Given the description of an element on the screen output the (x, y) to click on. 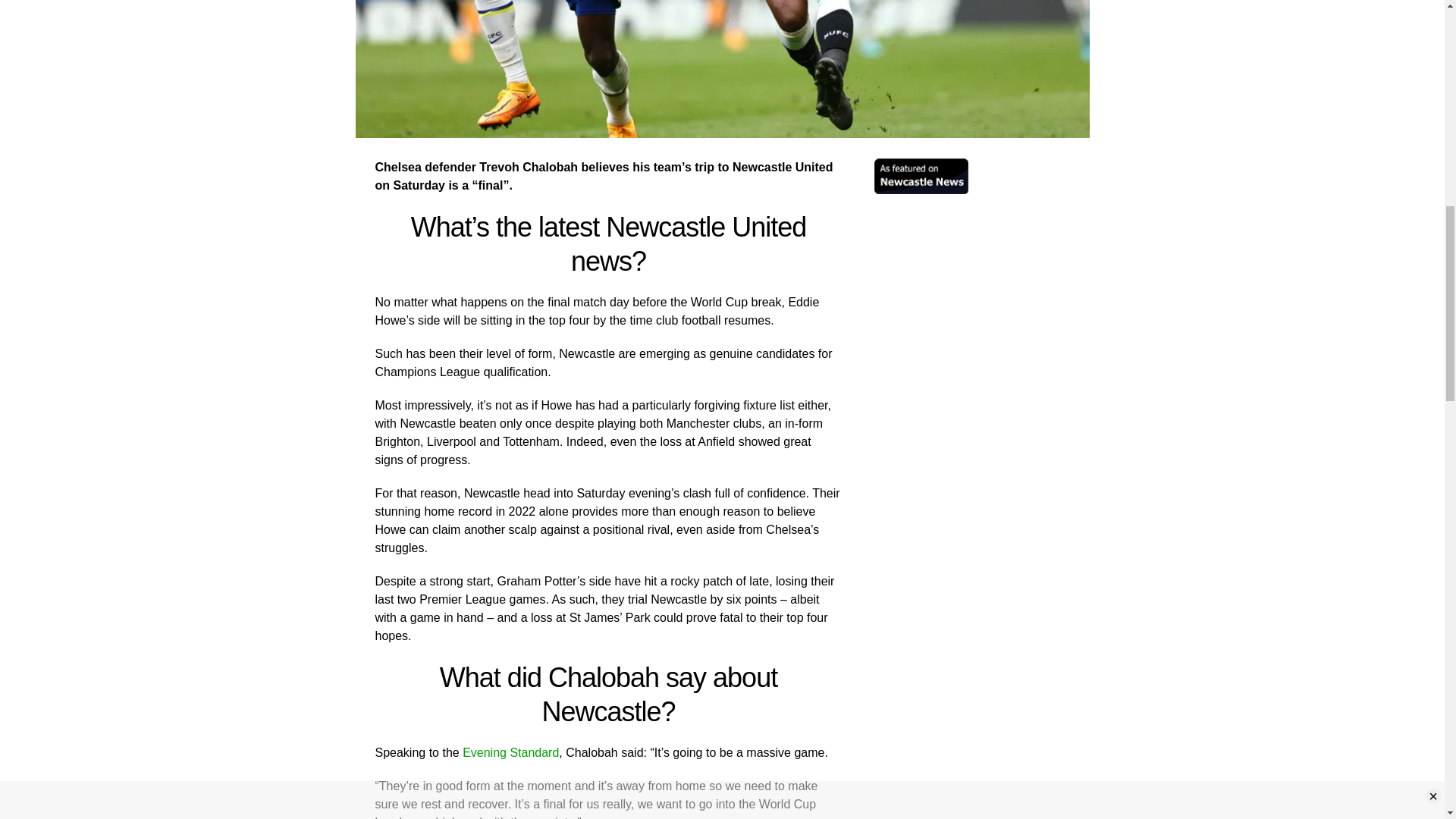
Evening Standard (511, 752)
Newcastle News (920, 189)
